Given the description of an element on the screen output the (x, y) to click on. 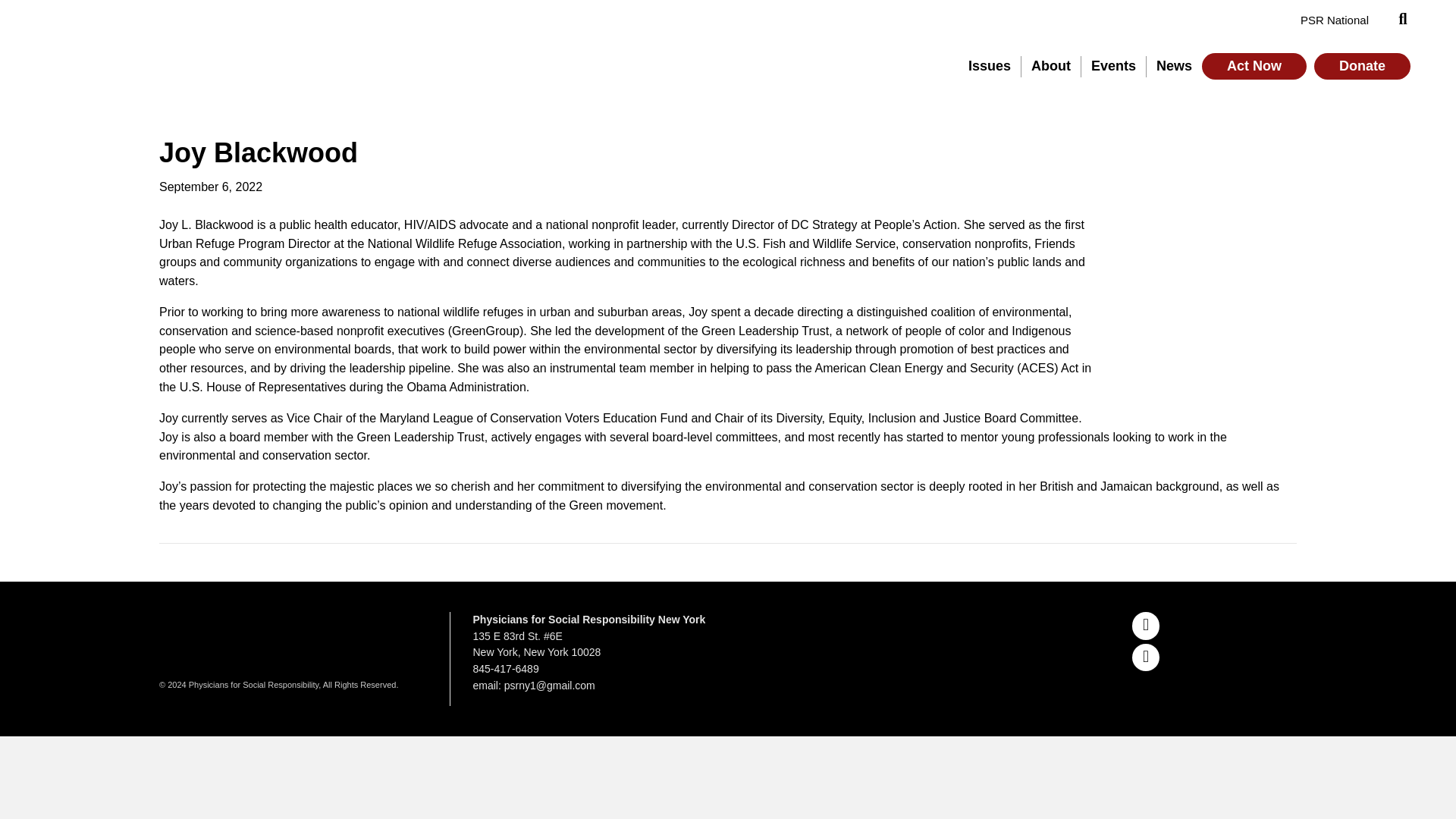
Psr New York Logo (162, 51)
Act Now (1254, 66)
Donate (1361, 66)
twitter (1144, 625)
News (1174, 66)
Events (1114, 66)
facebook (1144, 657)
Issues (990, 66)
About (1051, 66)
PSR National (1334, 19)
